Given the description of an element on the screen output the (x, y) to click on. 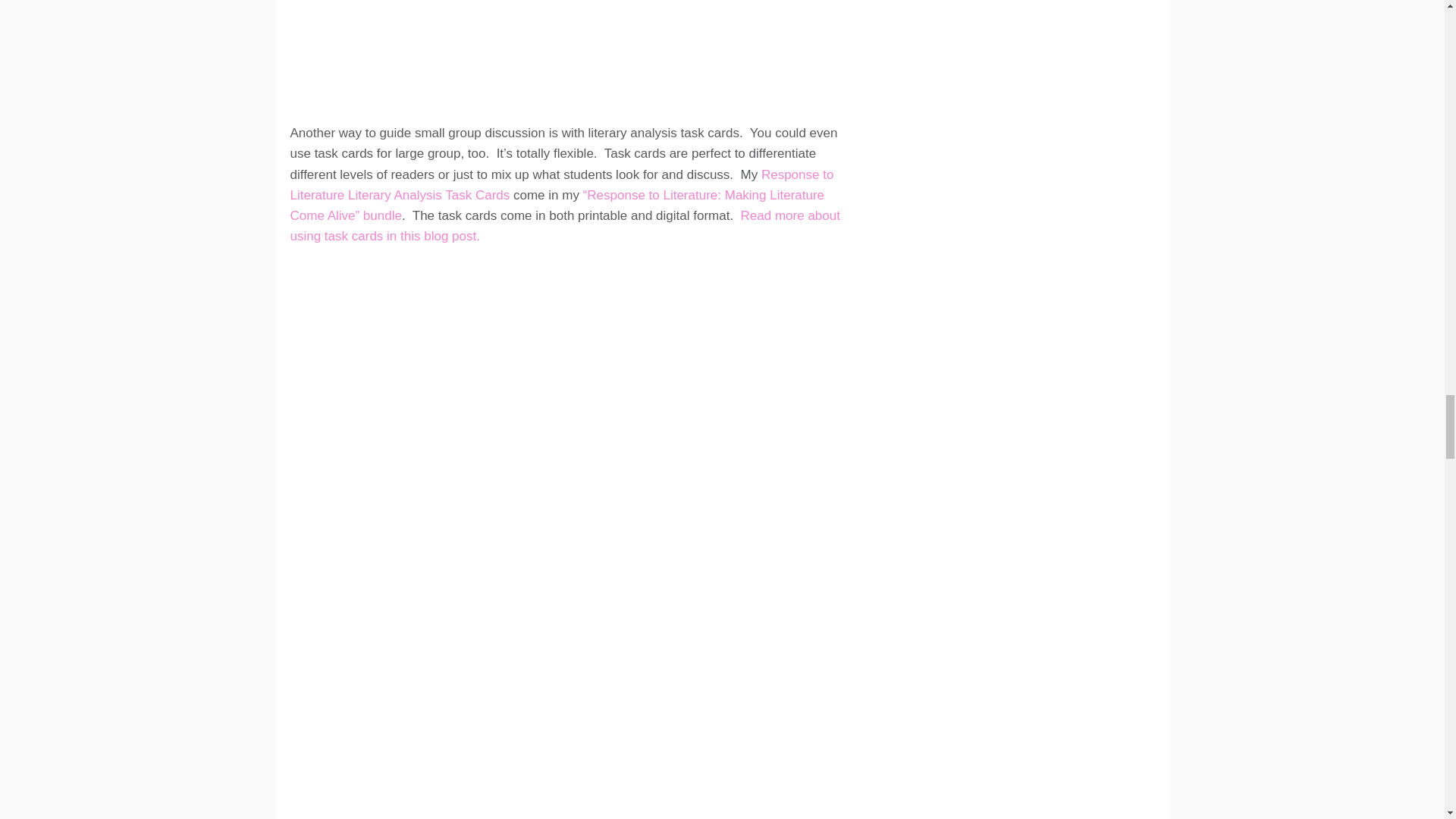
Response to Literature Literary Analysis Task Cards (560, 184)
Read more about using task cards in this blog post.  (564, 225)
